Given the description of an element on the screen output the (x, y) to click on. 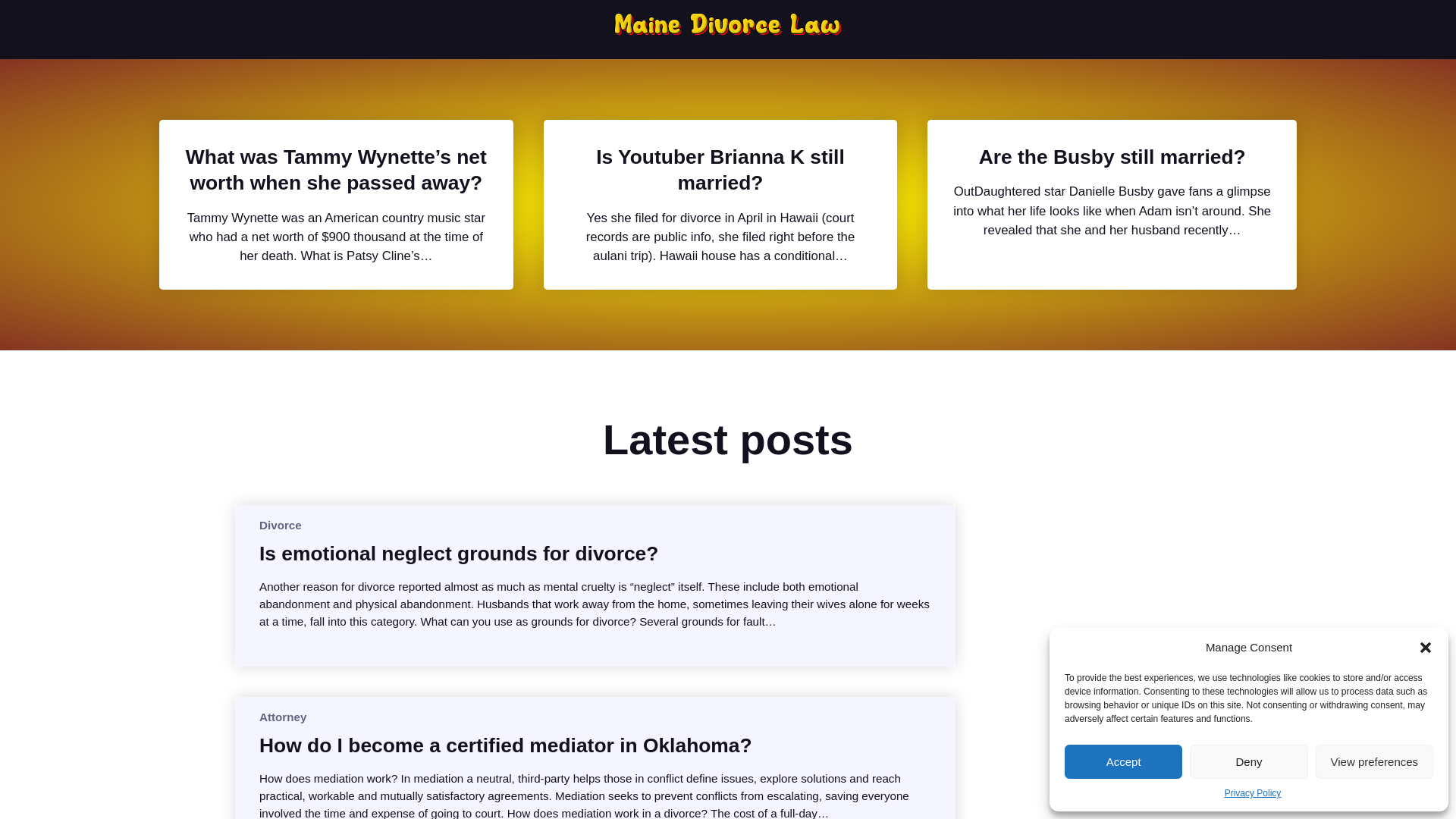
Deny (1248, 761)
Attorney (282, 716)
Are the Busby still married? (1112, 156)
Is Youtuber Brianna K still married? (720, 170)
How do I become a certified mediator in Oklahoma? (505, 745)
Is emotional neglect grounds for divorce? (458, 553)
Divorce (280, 524)
Privacy Policy (1252, 793)
Accept (1123, 761)
View preferences (1374, 761)
